Given the description of an element on the screen output the (x, y) to click on. 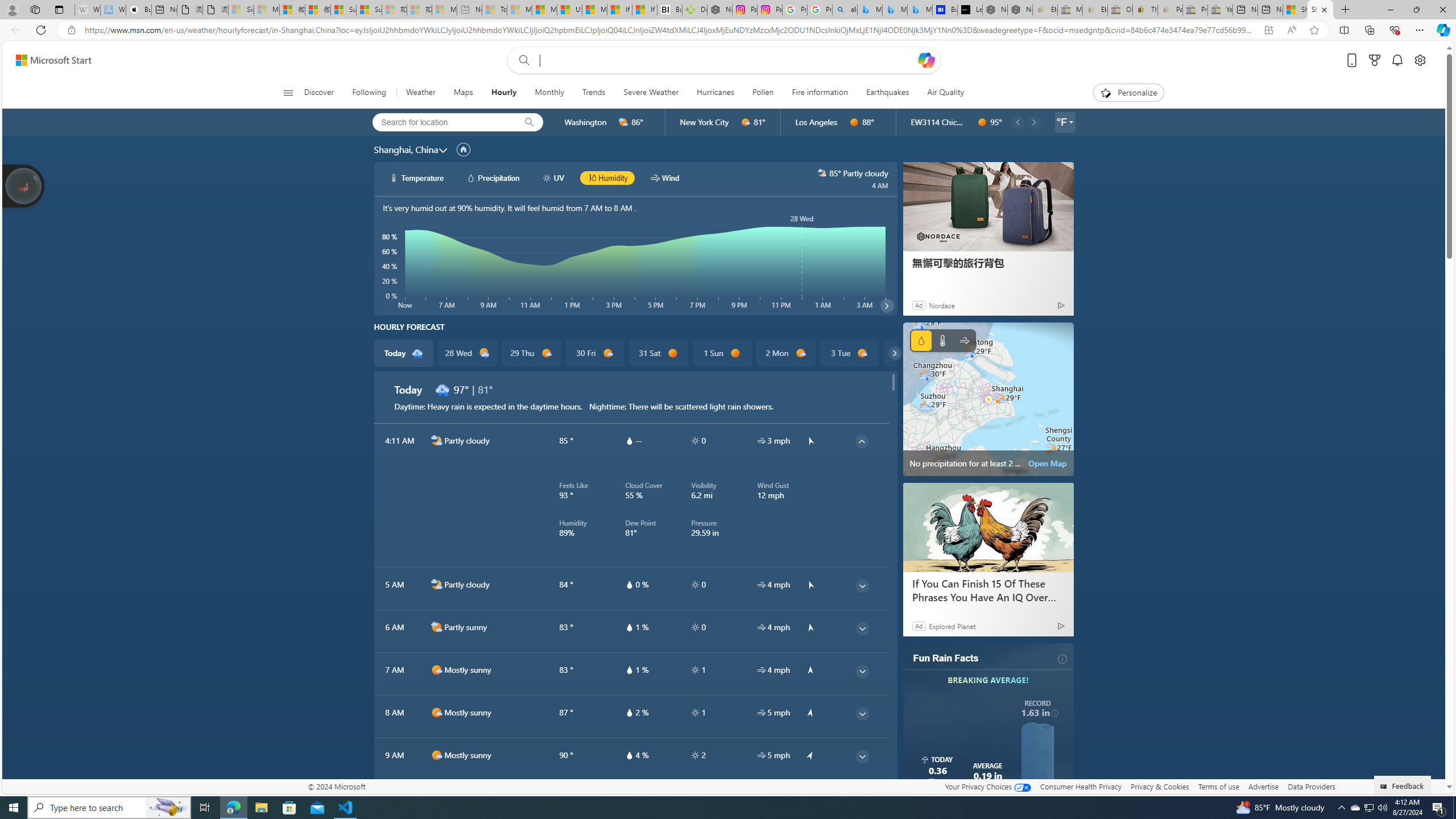
hourlyChart/uvWhite UV (553, 178)
Data Providers (1311, 786)
common/carouselChevron (894, 352)
Earthquakes (887, 92)
Hourly (503, 92)
Privacy & Cookies (1160, 785)
d2000 (436, 627)
Pollen (762, 92)
Terms of use (1218, 785)
locationBar/search (529, 121)
